Given the description of an element on the screen output the (x, y) to click on. 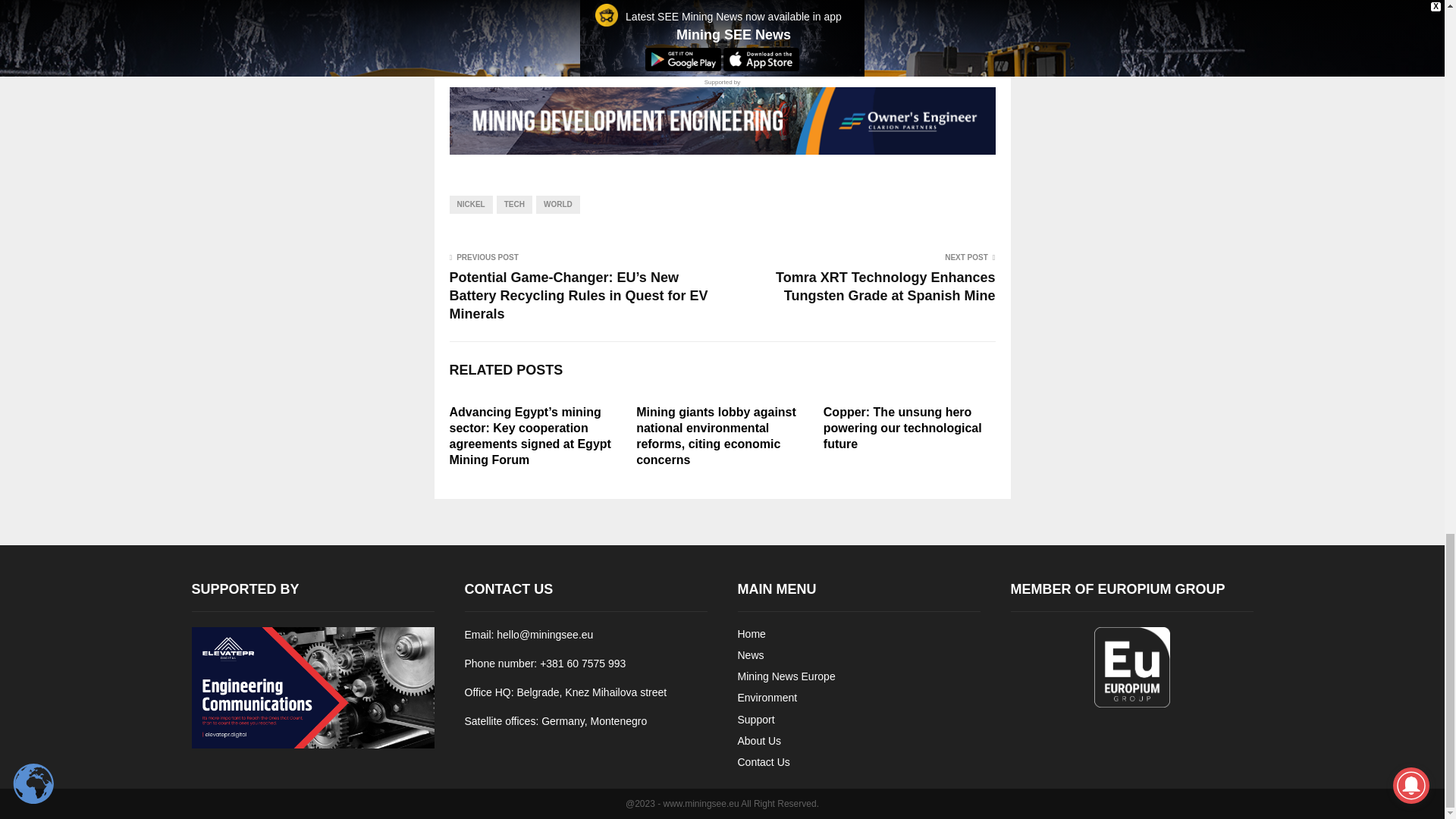
Copper: The unsung hero powering our technological future (902, 427)
NICKEL (470, 204)
TECH (514, 204)
WORLD (557, 204)
Tomra XRT Technology Enhances Tungsten Grade at Spanish Mine (885, 286)
Supported by (721, 115)
